Given the description of an element on the screen output the (x, y) to click on. 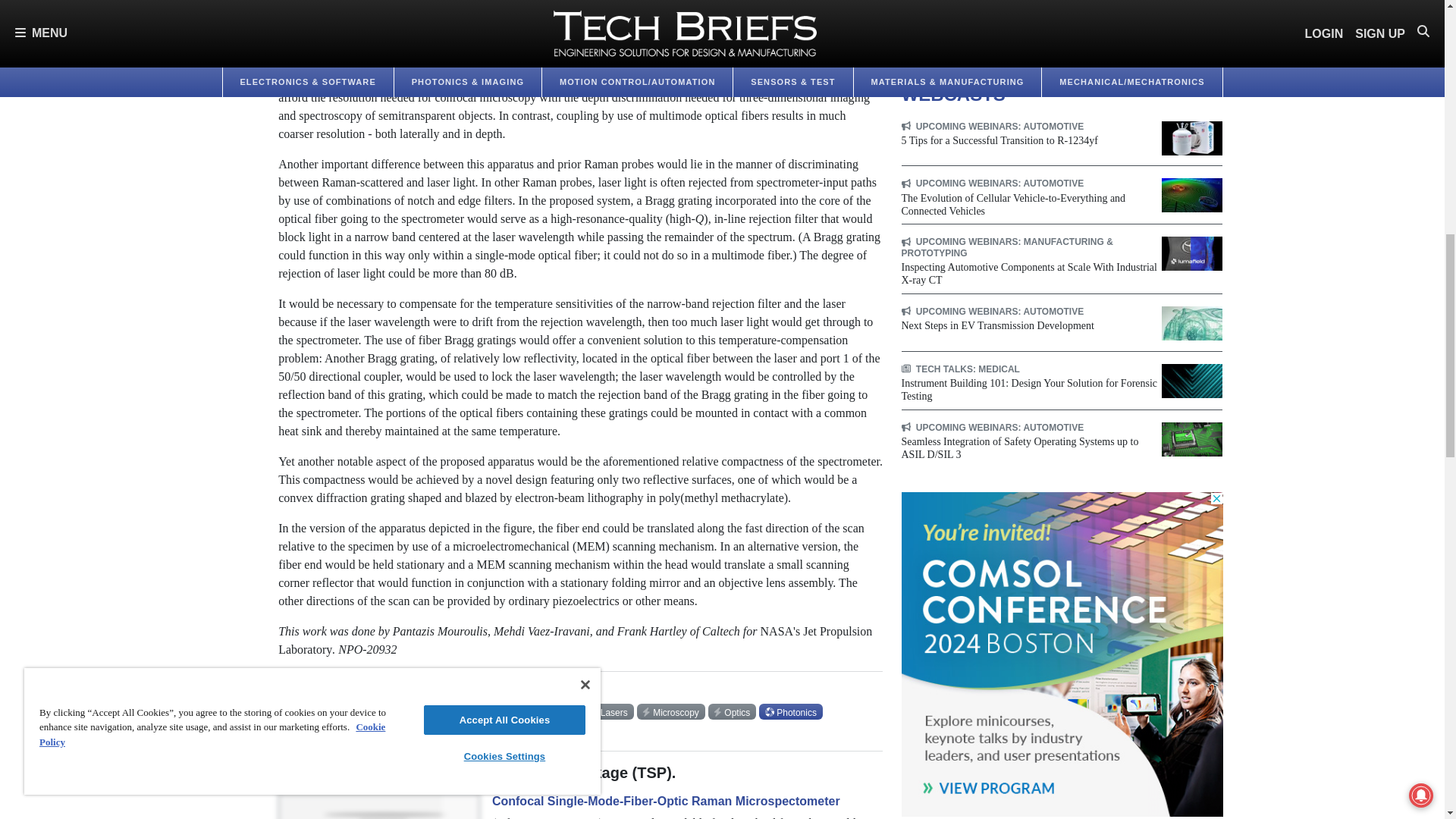
3rd party ad content (1062, 654)
3rd party ad content (1062, 31)
